Given the description of an element on the screen output the (x, y) to click on. 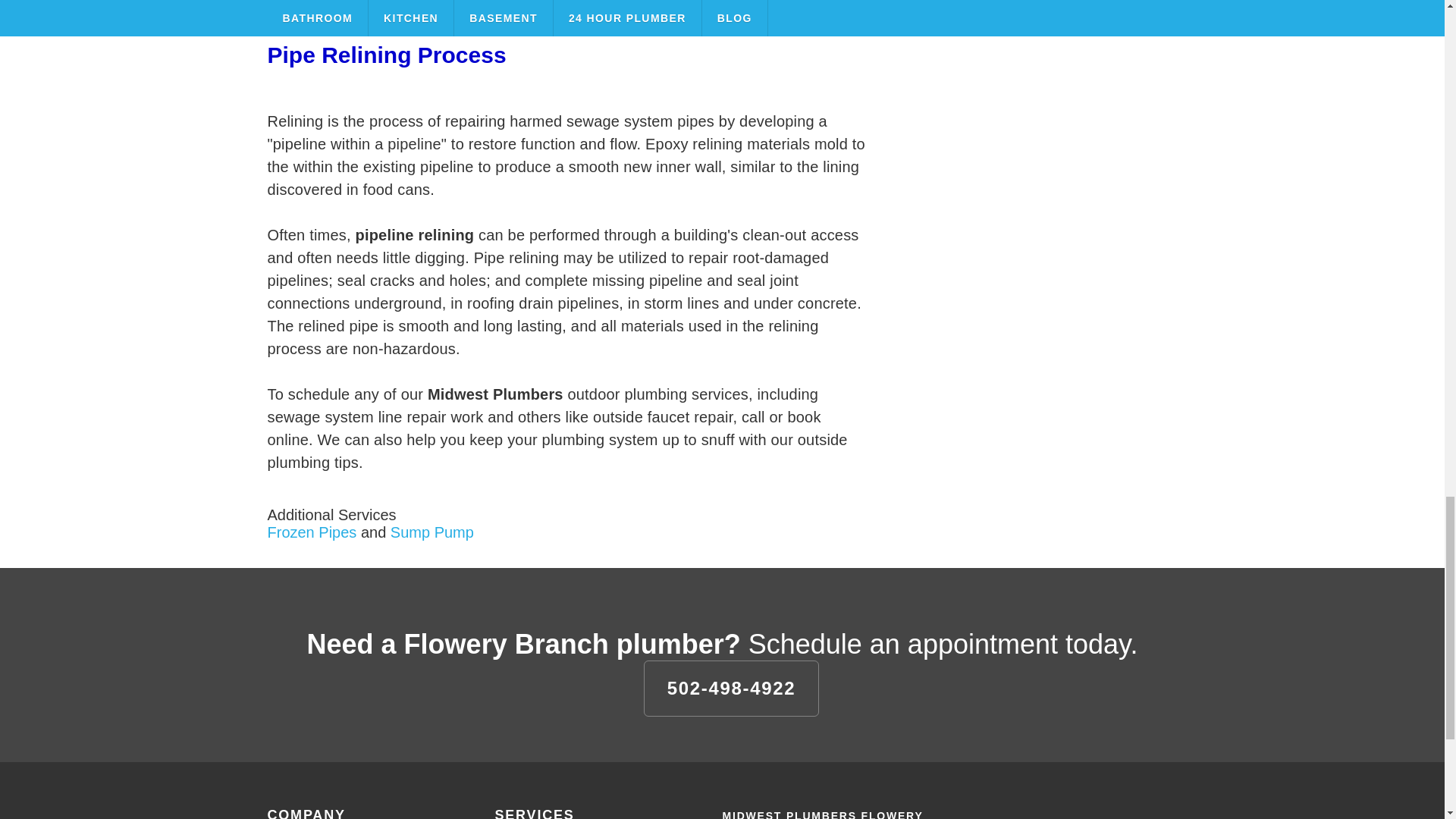
Frozen Pipes (311, 531)
502-498-4922 (731, 687)
Sump Pump (432, 531)
